Given the description of an element on the screen output the (x, y) to click on. 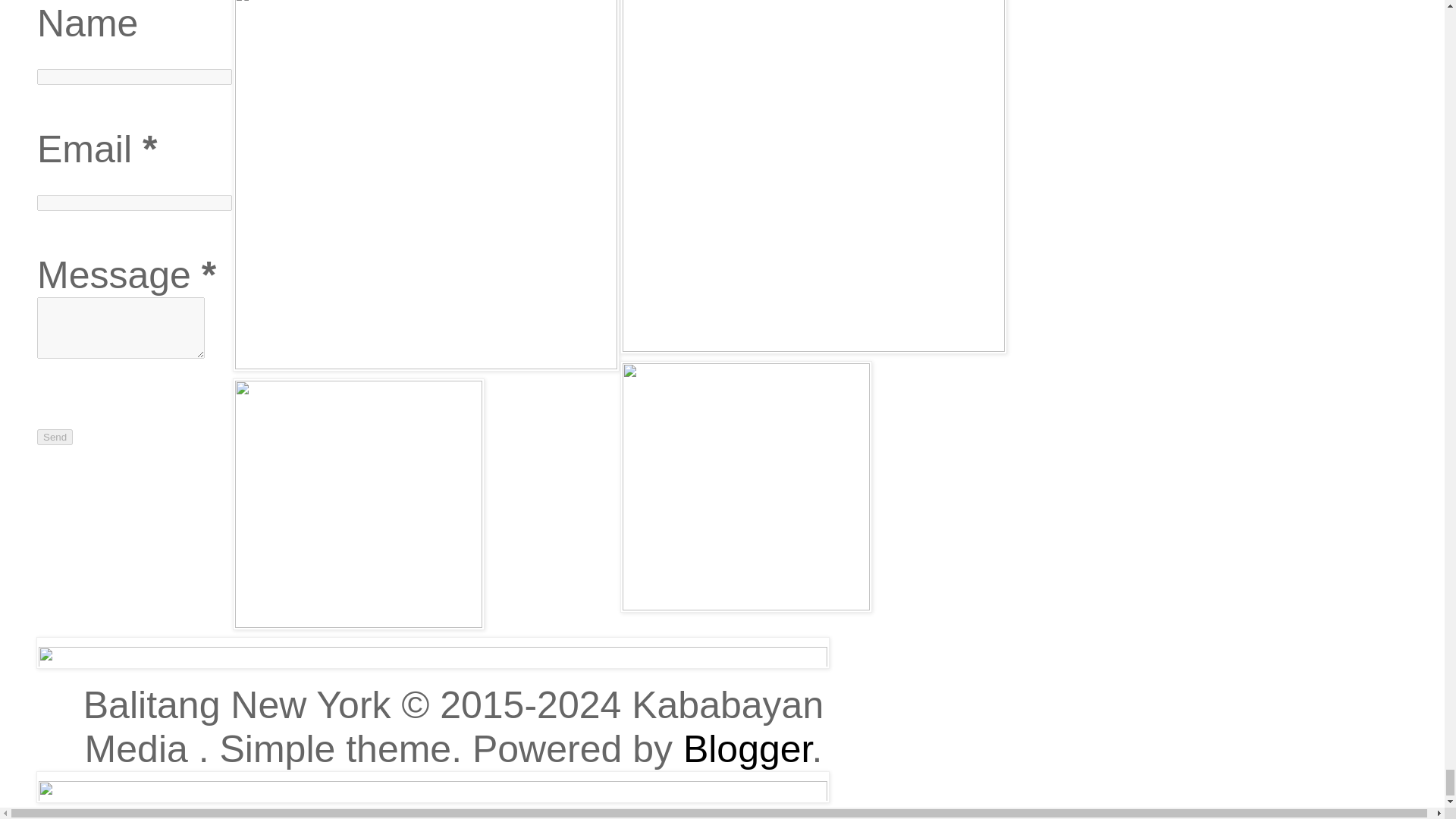
Send (54, 437)
